Given the description of an element on the screen output the (x, y) to click on. 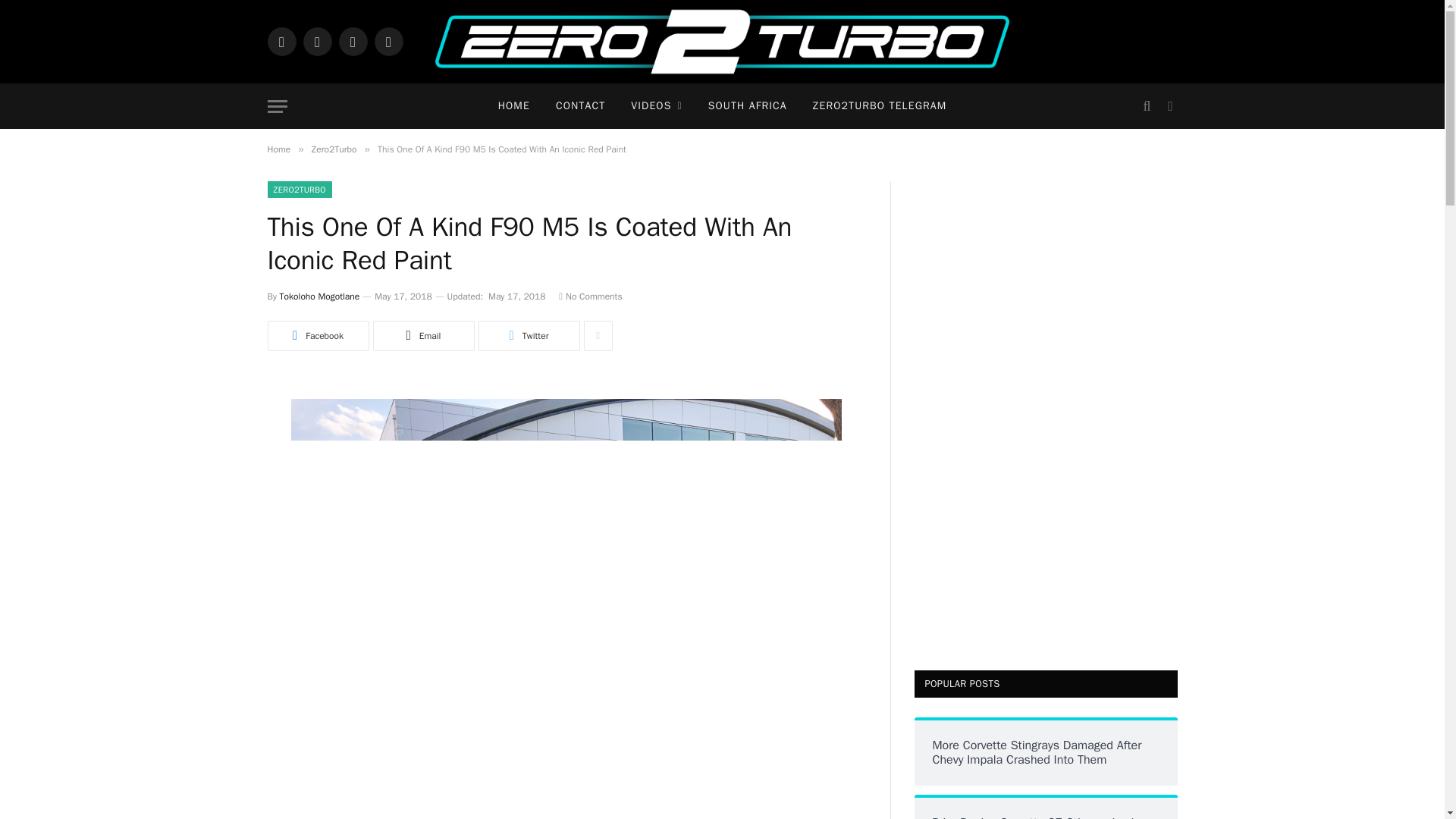
No Comments (590, 296)
Facebook (317, 336)
Facebook (280, 41)
Share on Facebook (317, 336)
Posts by Tokoloho Mogotlane (319, 296)
Home (277, 149)
Instagram (351, 41)
ZERO2TURBO TELEGRAM (879, 105)
Email (423, 336)
Zero2Turbo (333, 149)
VIDEOS (655, 105)
Zero2Turbo (722, 41)
HOME (513, 105)
ZERO2TURBO (298, 189)
Switch to Dark Design - easier on eyes. (1168, 106)
